Given the description of an element on the screen output the (x, y) to click on. 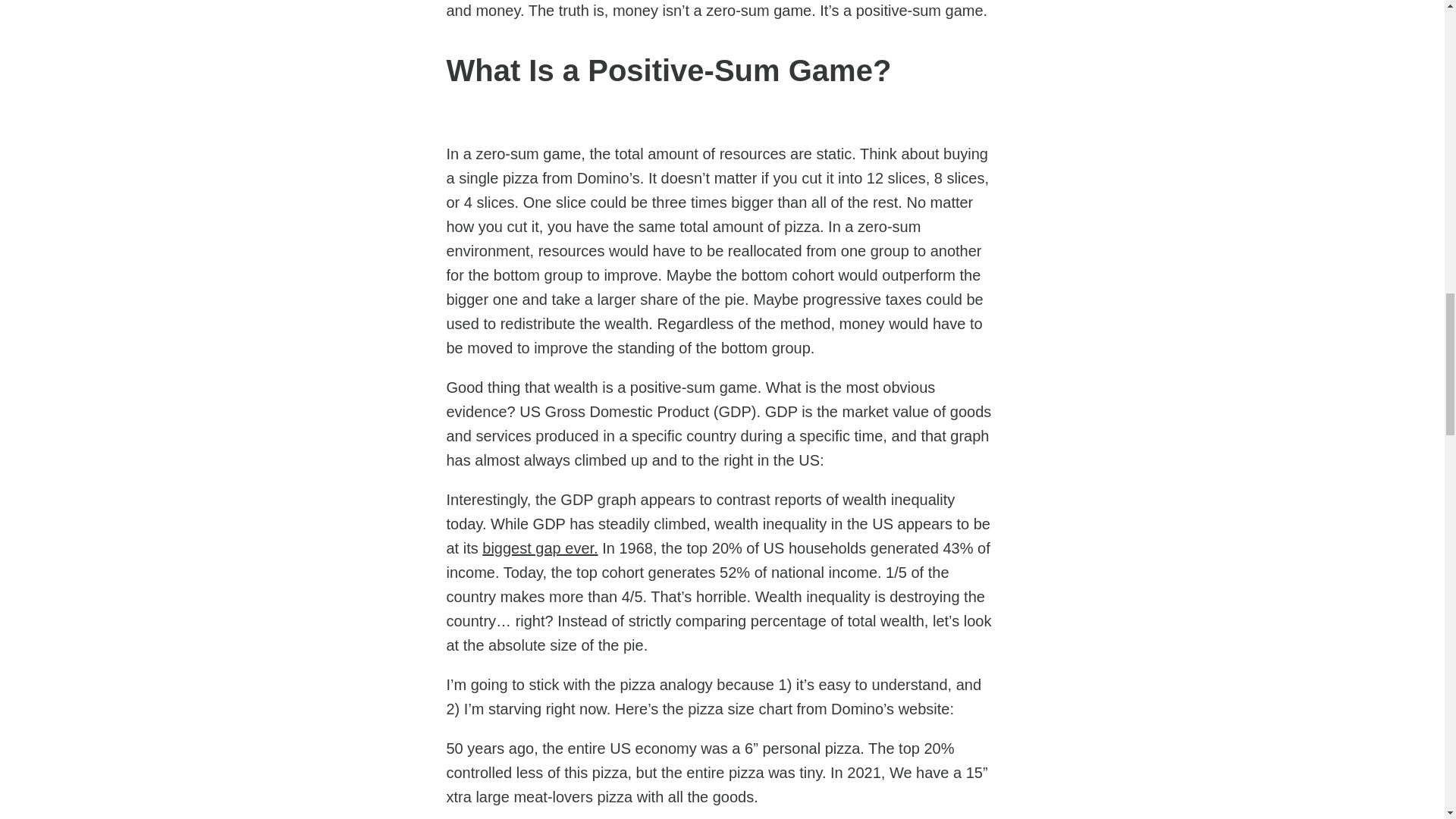
biggest gap ever. (538, 547)
